Given the description of an element on the screen output the (x, y) to click on. 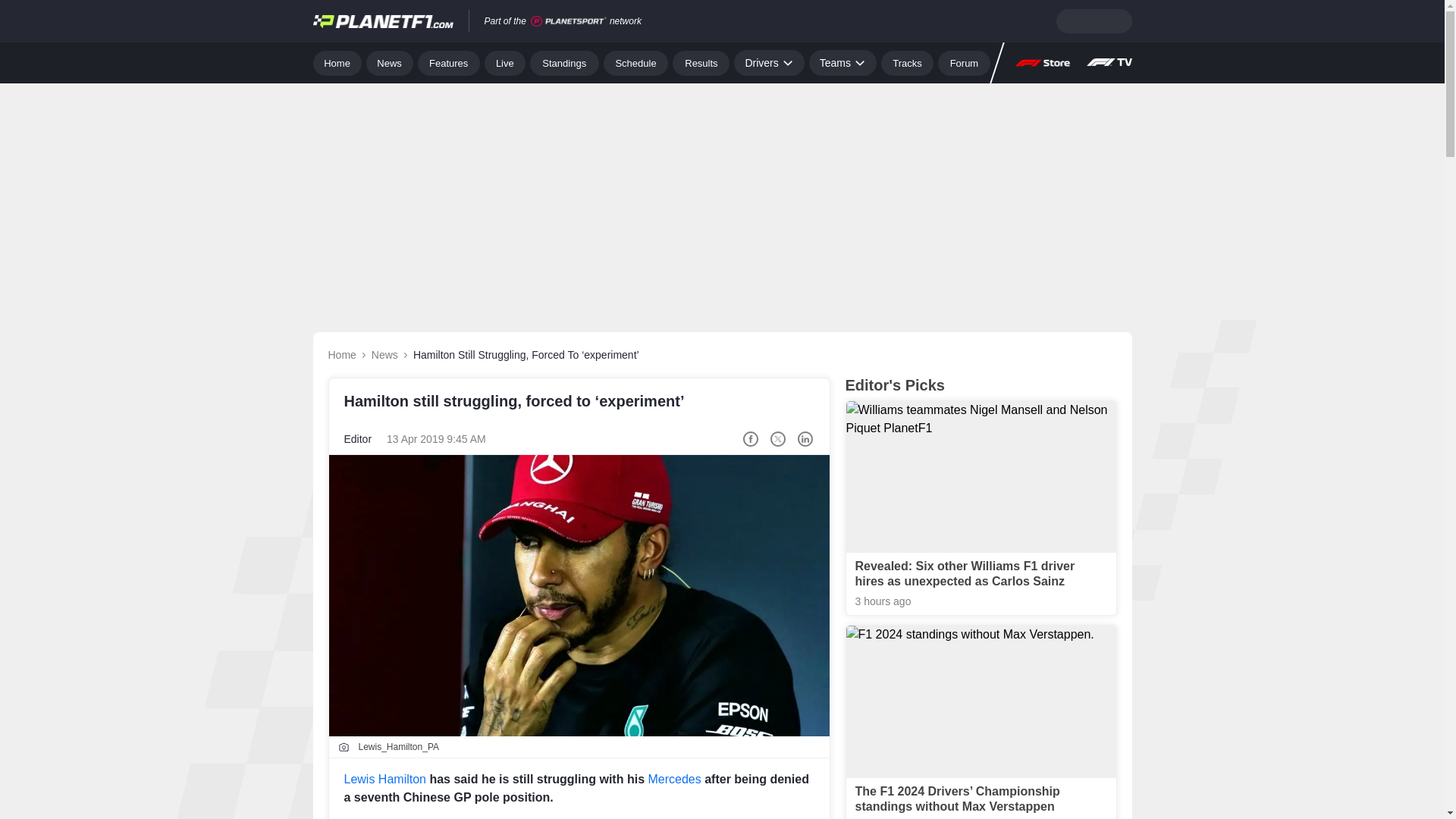
Schedule (636, 62)
Live (504, 62)
Teams (842, 62)
Home (337, 62)
Results (700, 62)
Standings (563, 62)
Drivers (768, 62)
Features (448, 62)
News (389, 62)
